Given the description of an element on the screen output the (x, y) to click on. 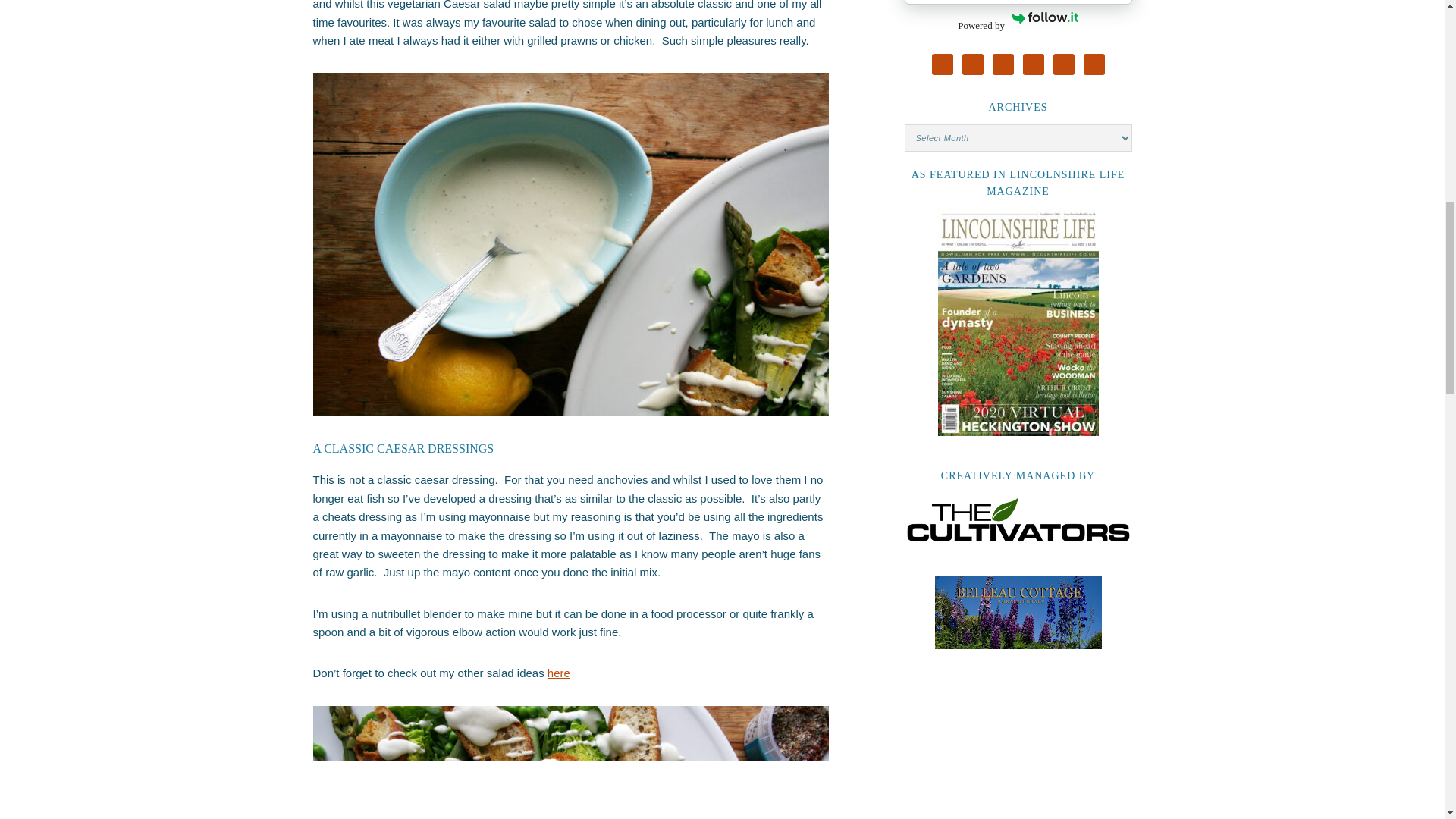
as featured in Lincolnshire Life Magazine (1017, 321)
creatively managed by (1017, 518)
here (558, 672)
